Given the description of an element on the screen output the (x, y) to click on. 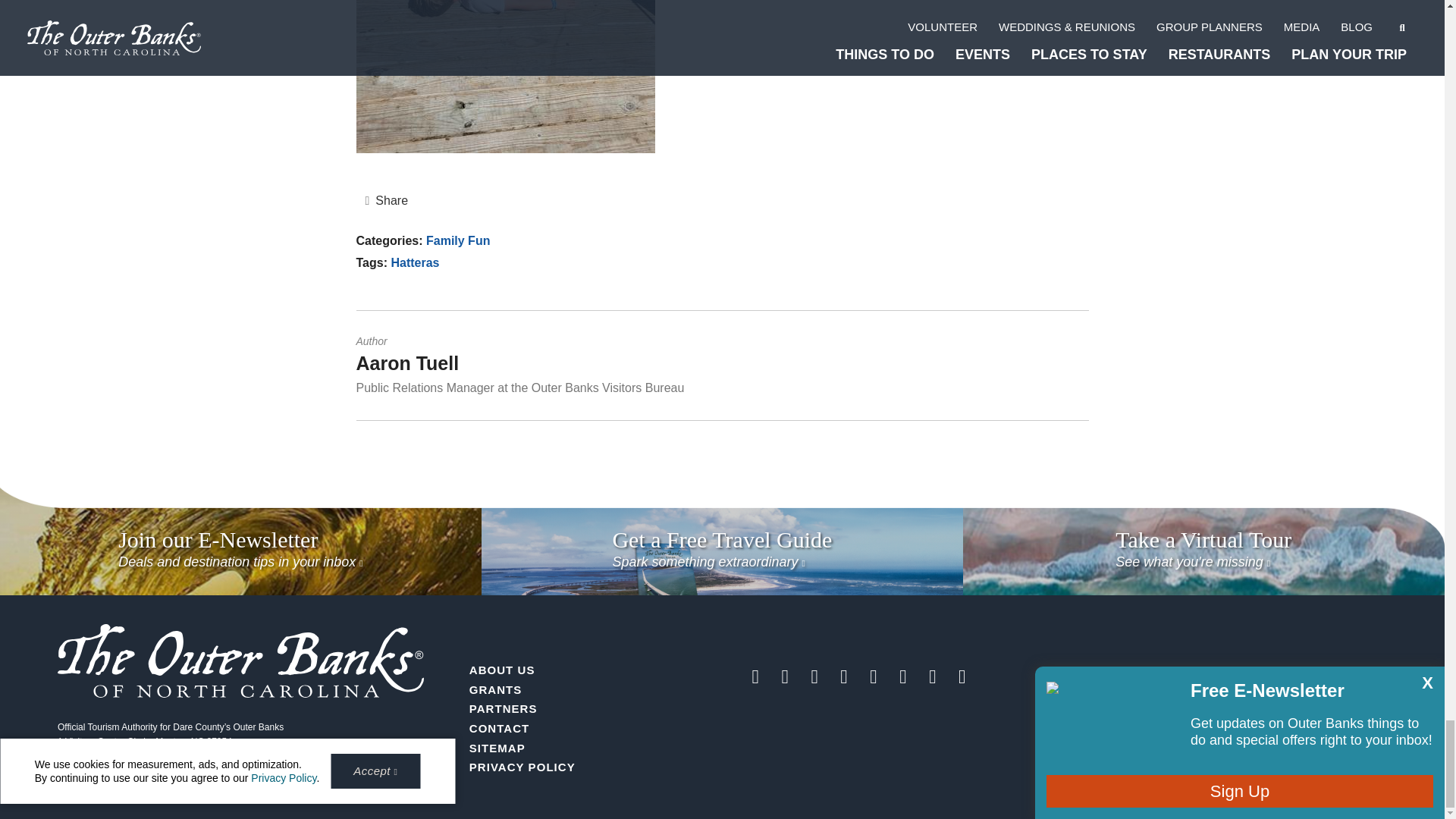
Privacy Policy (521, 766)
Grants (495, 689)
Sitemap (496, 748)
Partners (502, 707)
Contact (498, 727)
About Us (501, 669)
